Given the description of an element on the screen output the (x, y) to click on. 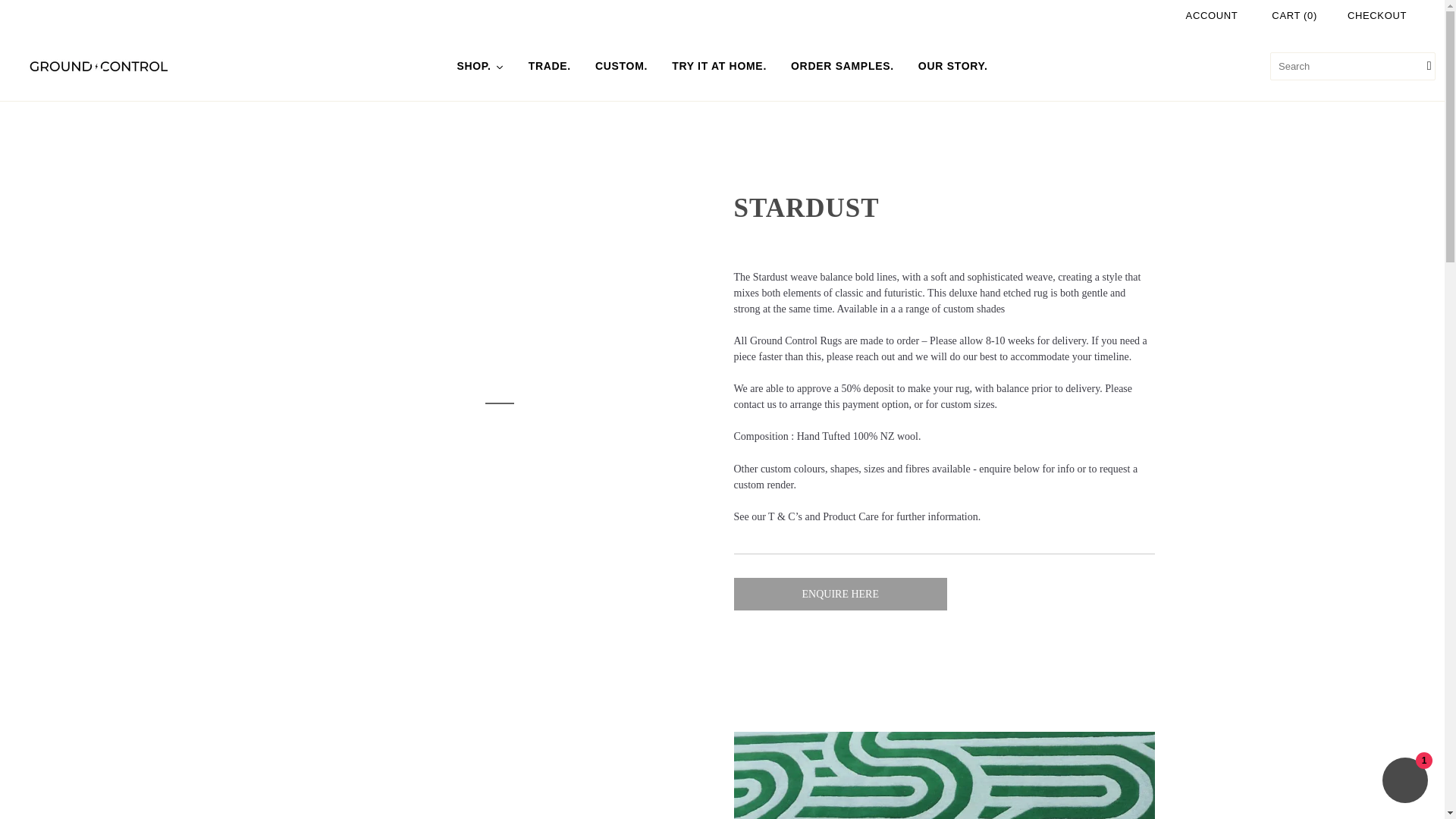
TRADE. (549, 66)
OUR STORY. (952, 66)
ORDER SAMPLES. (841, 66)
CHECKOUT (1377, 15)
CUSTOM. (621, 66)
TRY IT AT HOME. (718, 66)
ENQUIRE HERE (840, 594)
TRY IT AT HOME. (718, 66)
ORDER SAMPLES. (841, 66)
SHOP. (479, 66)
TRADE. (549, 66)
OUR STORY. (952, 66)
CUSTOM. (621, 66)
SHOP. (479, 66)
Shopify online store chat (1404, 781)
